Given the description of an element on the screen output the (x, y) to click on. 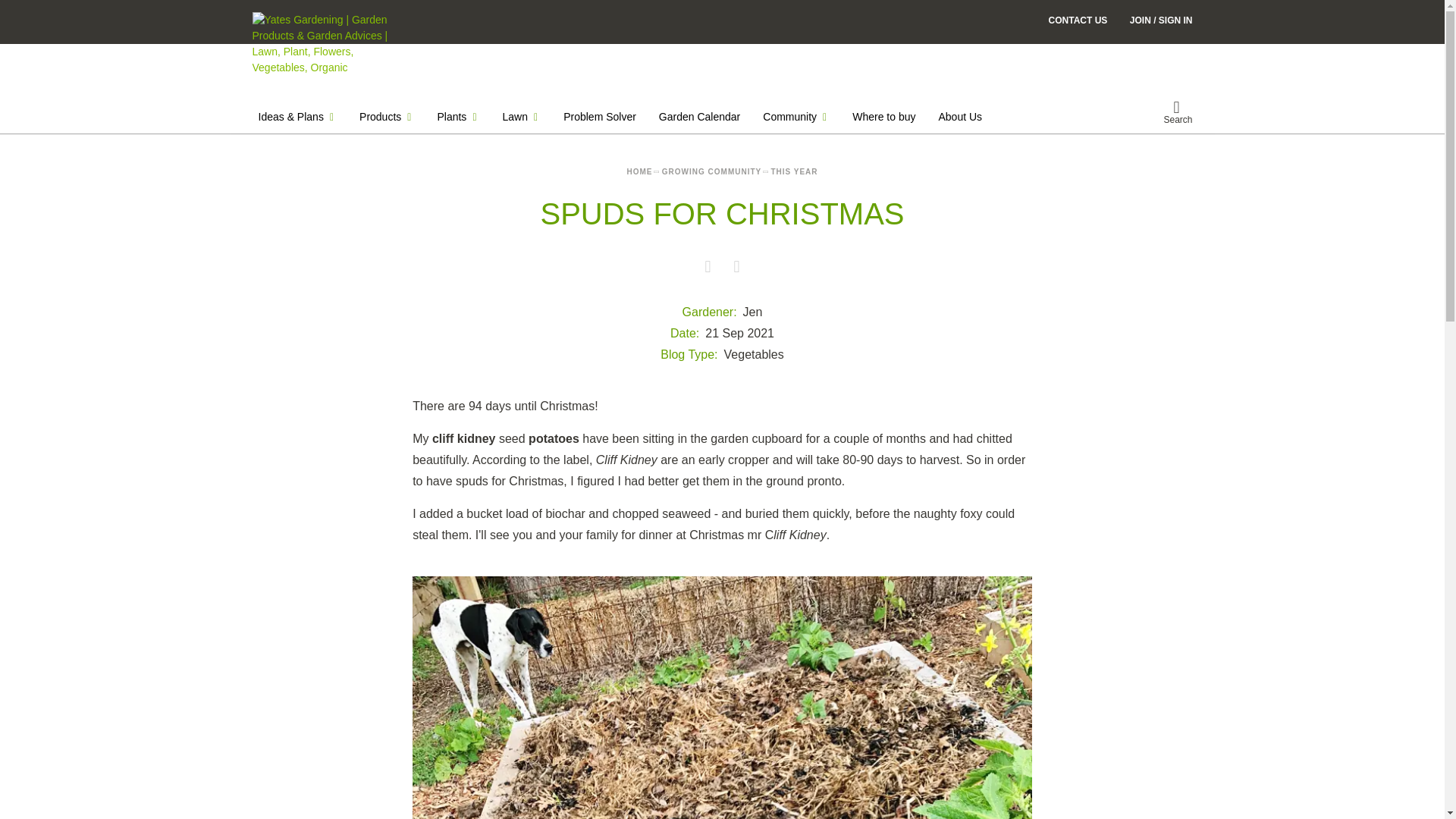
Problem Solver (599, 116)
Community (796, 116)
CONTACT US (1078, 20)
Where to buy (883, 116)
Products (386, 116)
Lawn (521, 116)
Garden Calendar (698, 116)
Plants (457, 116)
Yates (322, 44)
About Us (959, 116)
